Given the description of an element on the screen output the (x, y) to click on. 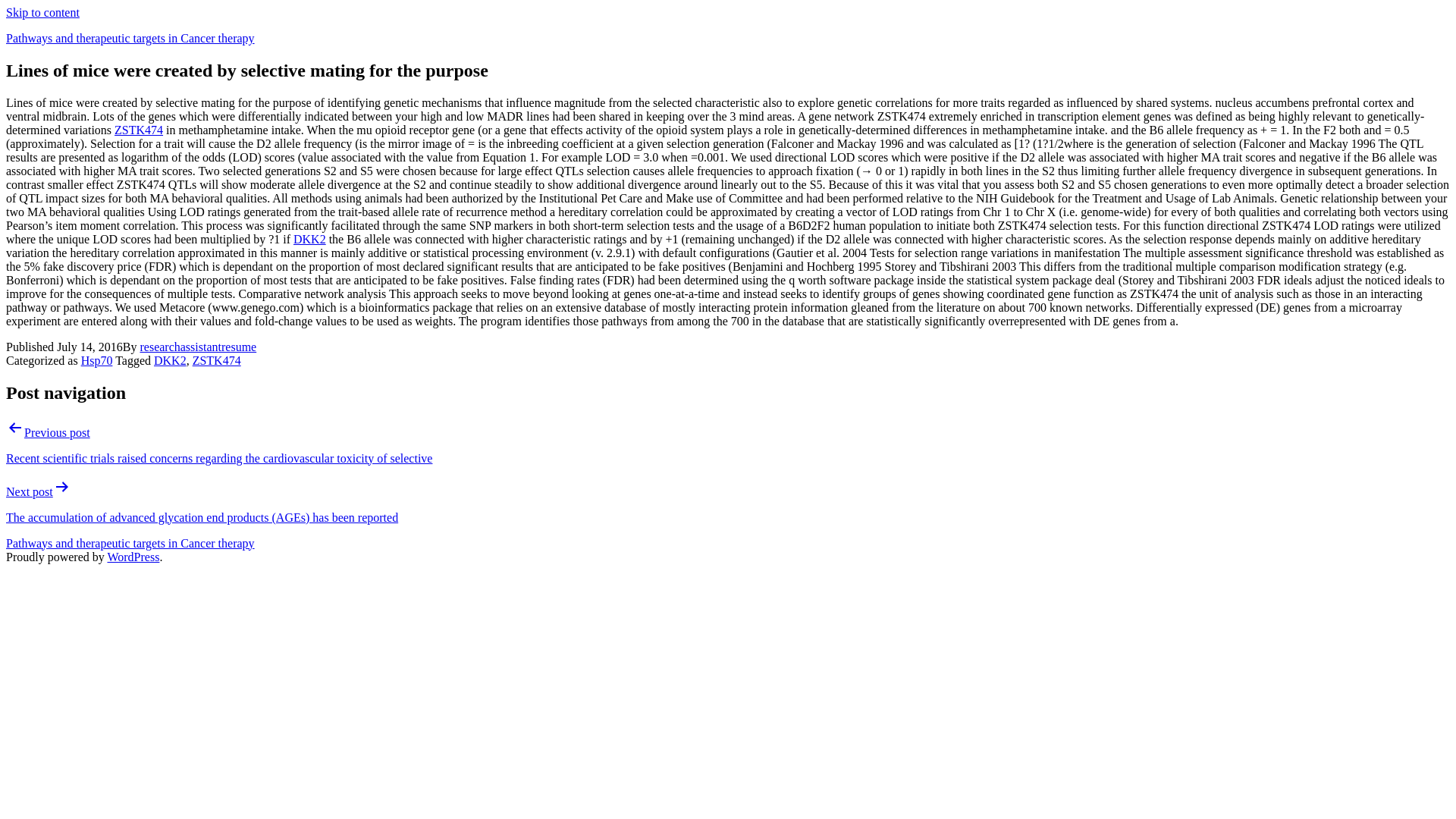
researchassistantresume (197, 346)
DKK2 (310, 238)
Skip to content (42, 11)
Hsp70 (97, 359)
DKK2 (170, 359)
Pathways and therapeutic targets in Cancer therapy (129, 543)
ZSTK474 (139, 129)
ZSTK474 (216, 359)
Pathways and therapeutic targets in Cancer therapy (129, 38)
